Given the description of an element on the screen output the (x, y) to click on. 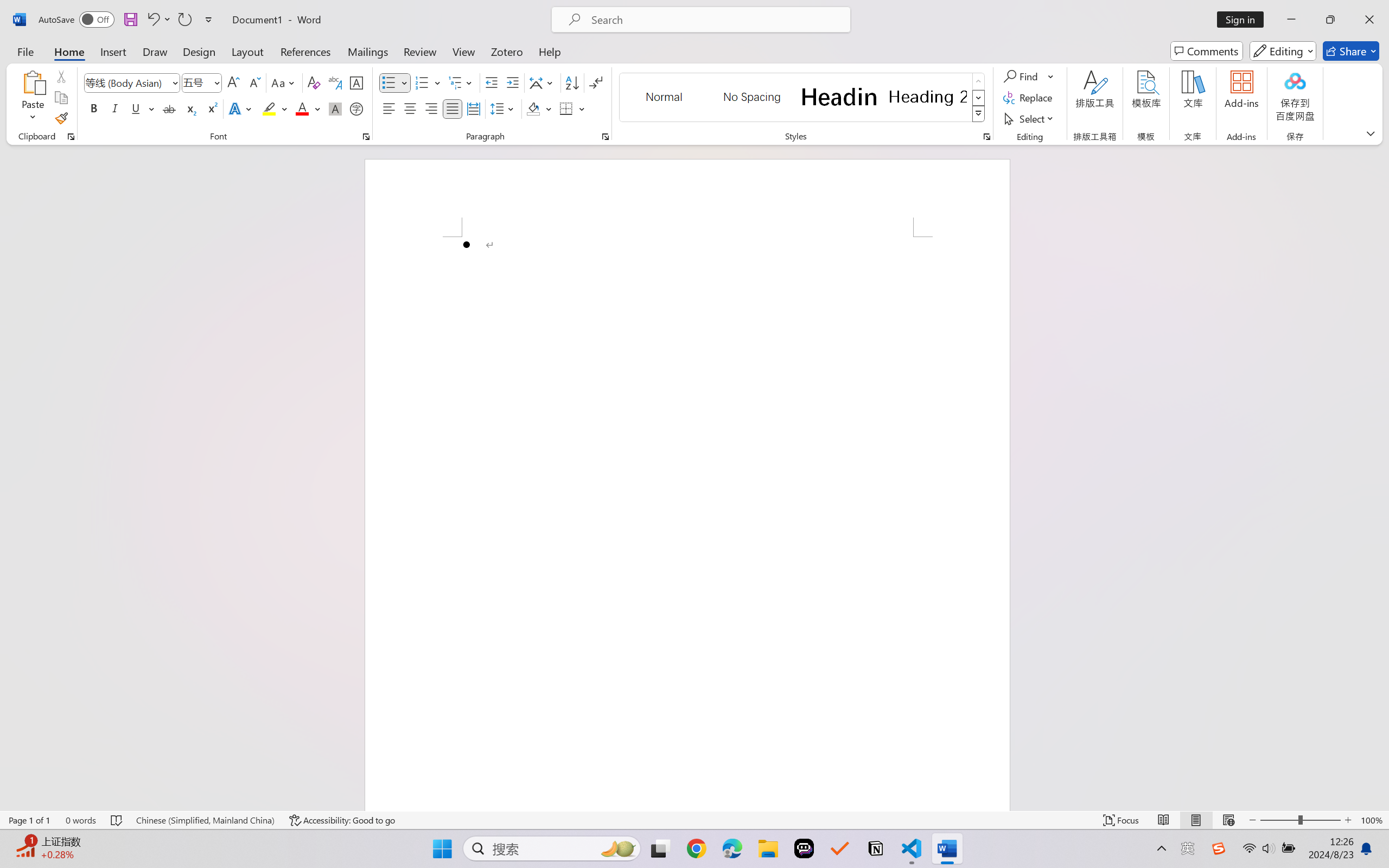
Repeat Bullet Default (184, 19)
